Given the description of an element on the screen output the (x, y) to click on. 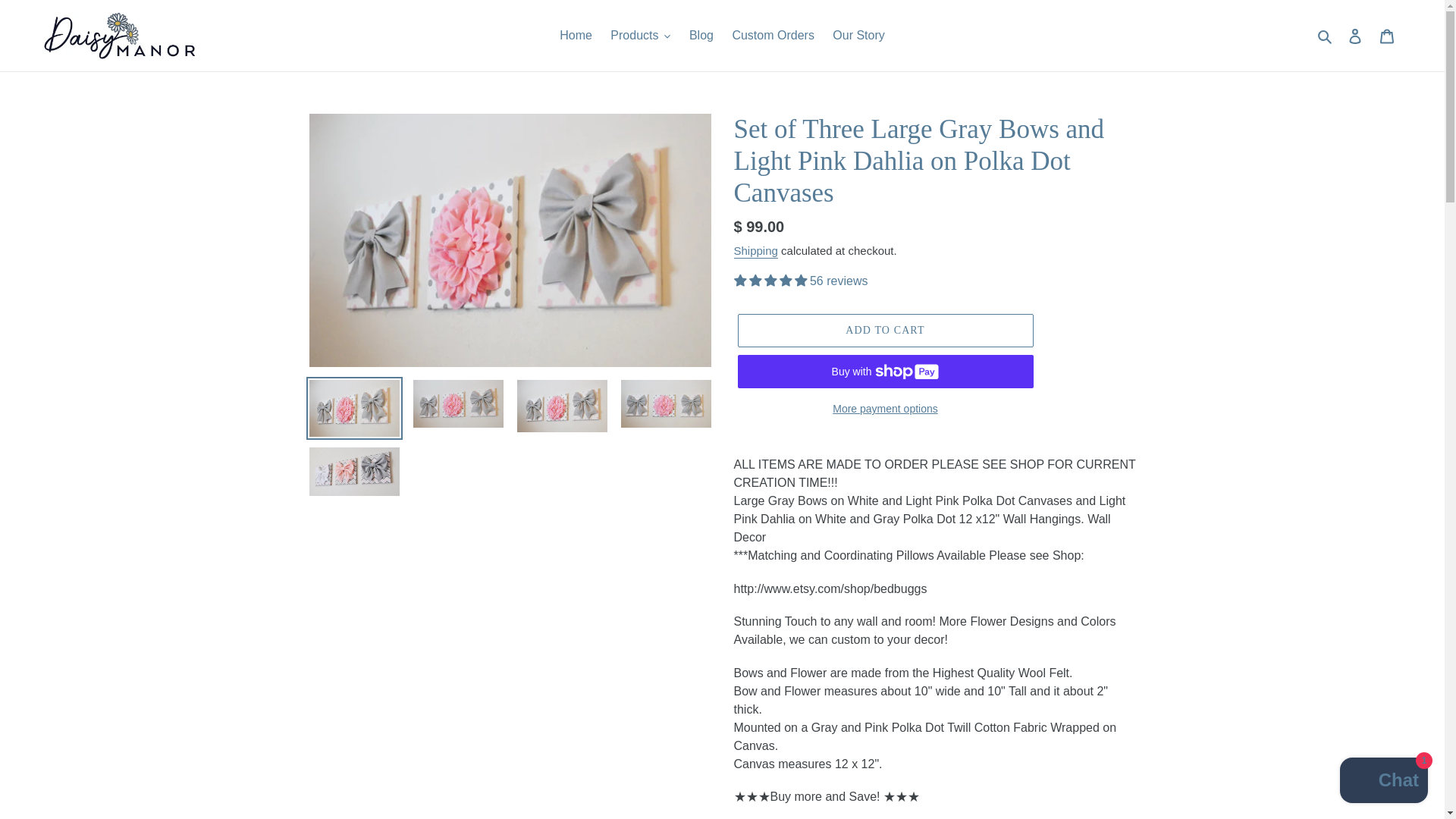
Cart (1387, 35)
Shipping (755, 251)
More payment options (884, 408)
Blog (700, 35)
Log in (1355, 35)
ADD TO CART (884, 330)
Search (1326, 35)
Custom Orders (772, 35)
Our Story (858, 35)
Home (575, 35)
Shopify online store chat (1383, 781)
Products (640, 35)
